Given the description of an element on the screen output the (x, y) to click on. 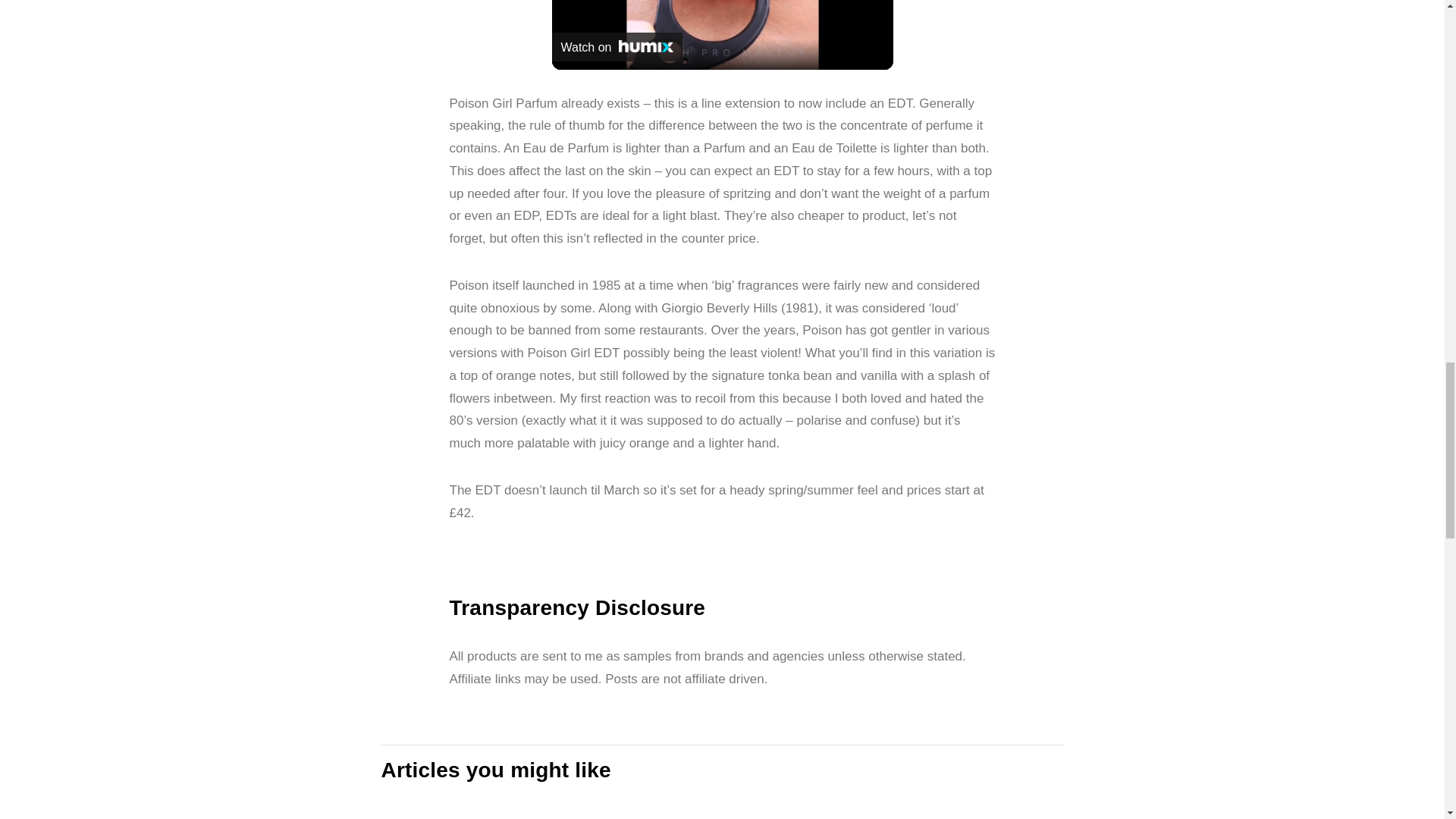
Watch on (616, 46)
